Given the description of an element on the screen output the (x, y) to click on. 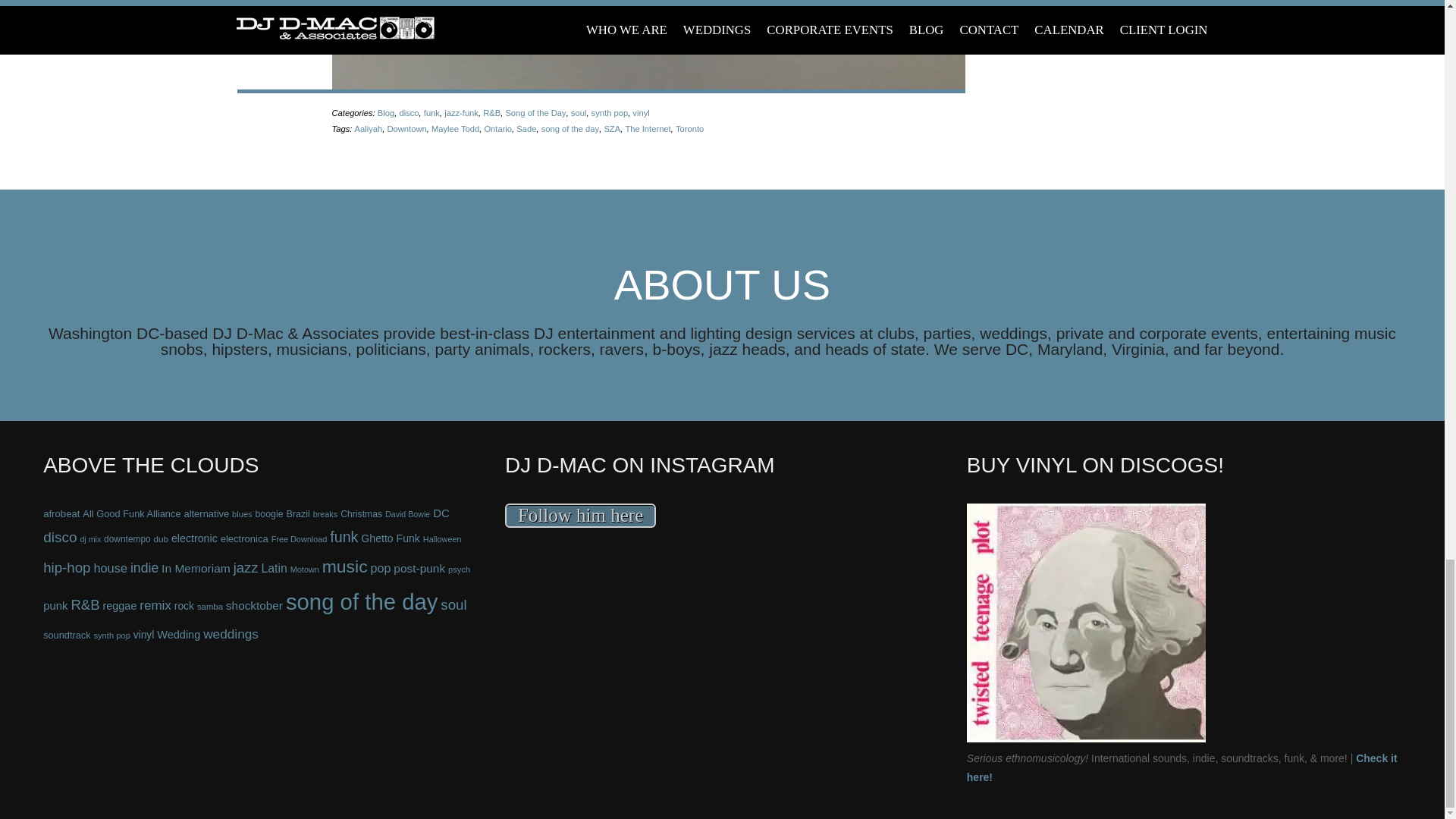
disco (408, 112)
funk (431, 112)
Blog (385, 112)
jazz-funk (461, 112)
